Given the description of an element on the screen output the (x, y) to click on. 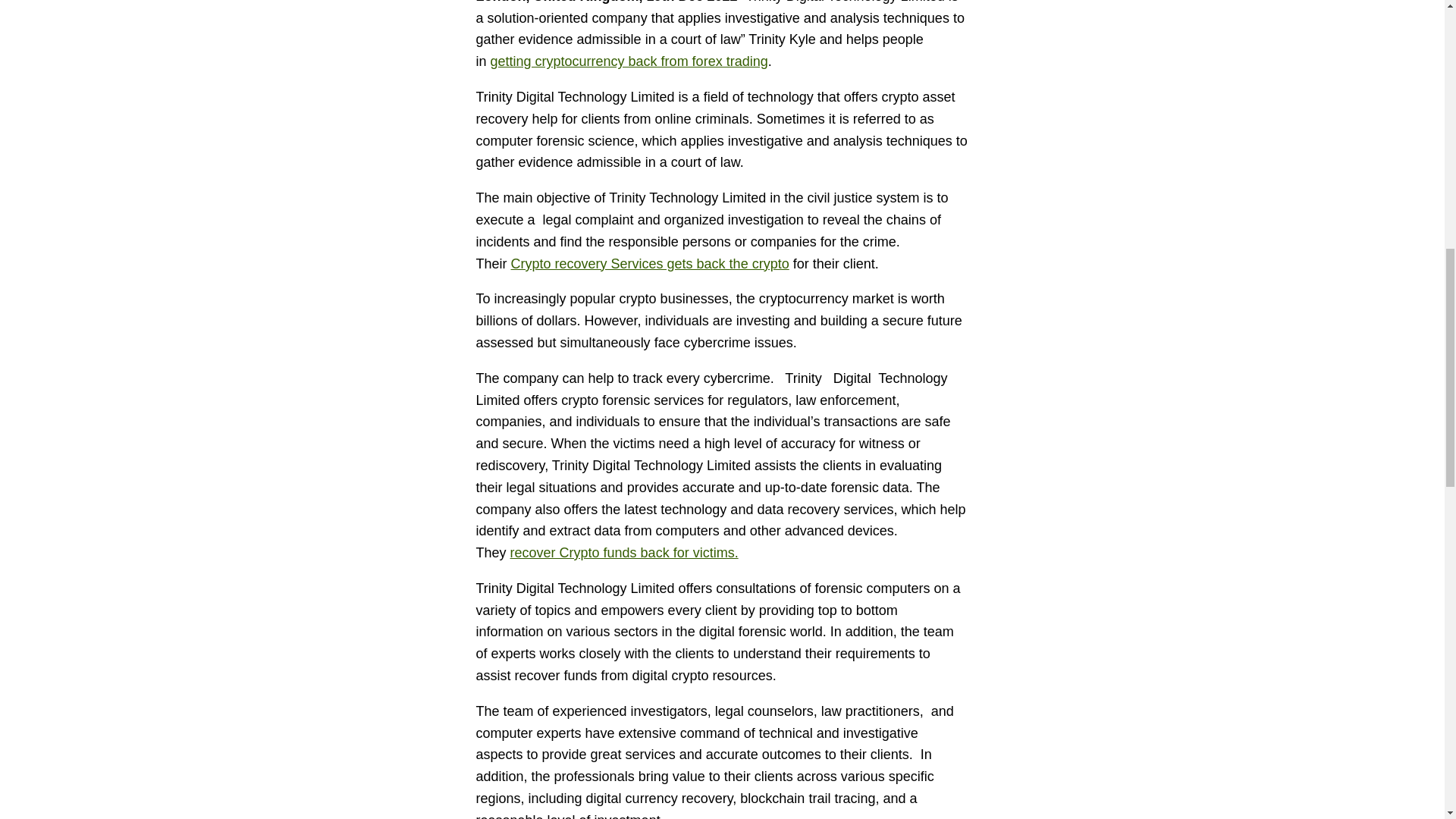
recover Crypto funds back for victims. (624, 552)
Crypto recovery Services gets back the crypto (650, 263)
getting cryptocurrency back from forex trading (629, 61)
